Given the description of an element on the screen output the (x, y) to click on. 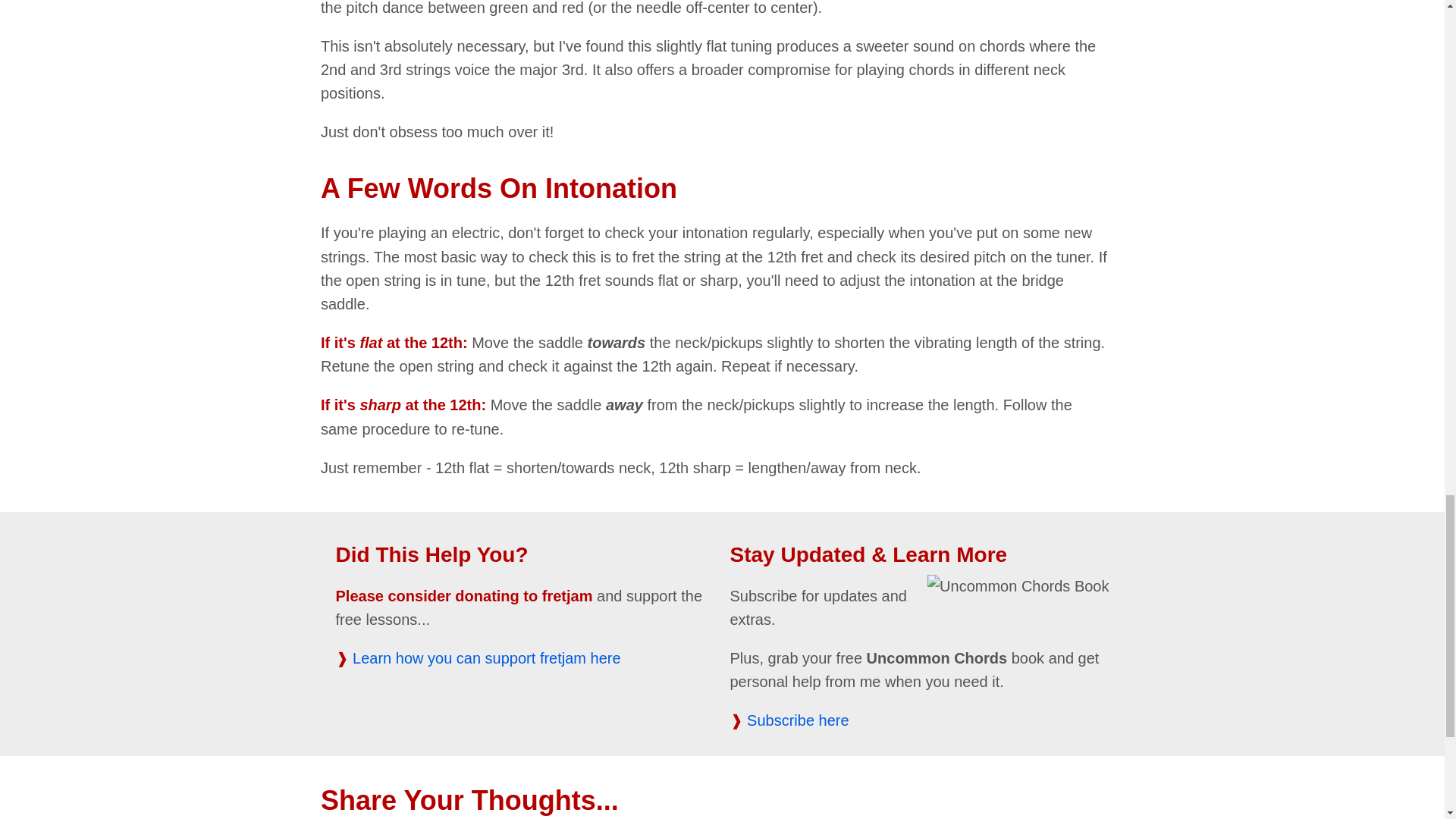
Learn how you can support fretjam here (494, 670)
Uncommon Chords Book (1017, 586)
Subscribe here (797, 719)
